Given the description of an element on the screen output the (x, y) to click on. 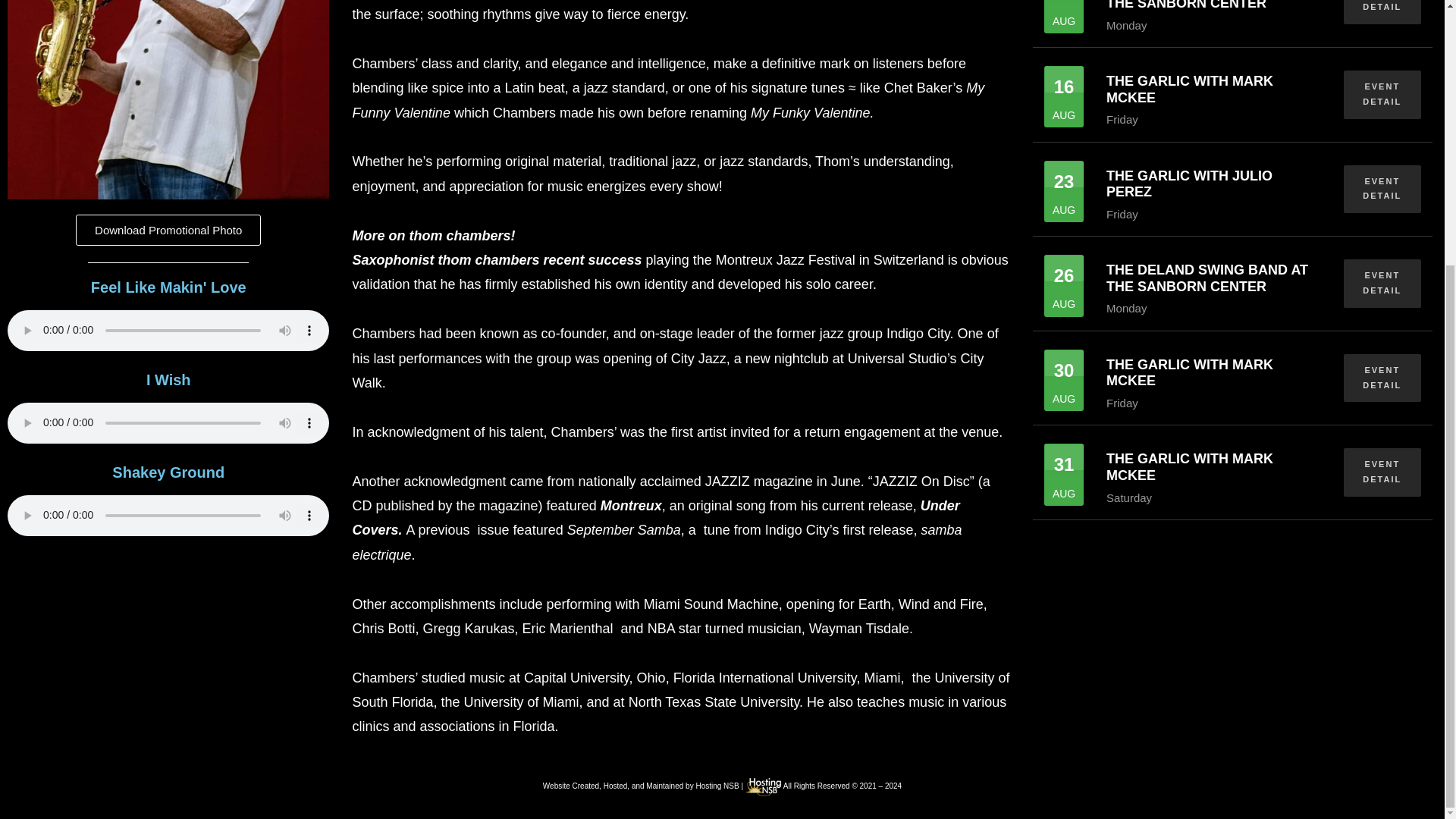
EVENT DETAIL (1382, 94)
EVENT DETAIL (1382, 471)
THE GARLIC WITH MARK MCKEE (1189, 373)
EVENT DETAIL (1382, 377)
Download Promotional Photo (167, 229)
THE GARLIC WITH MARK MCKEE (1189, 467)
THE GARLIC WITH MARK MCKEE (1189, 89)
EVENT DETAIL (1382, 283)
THE DELAND SWING BAND AT THE SANBORN CENTER (1206, 278)
THE GARLIC WITH JULIO PEREZ (1189, 183)
EVENT DETAIL (1382, 12)
EVENT DETAIL (1382, 189)
THE DELAND SWING BAND AT THE SANBORN CENTER (1206, 5)
